Given the description of an element on the screen output the (x, y) to click on. 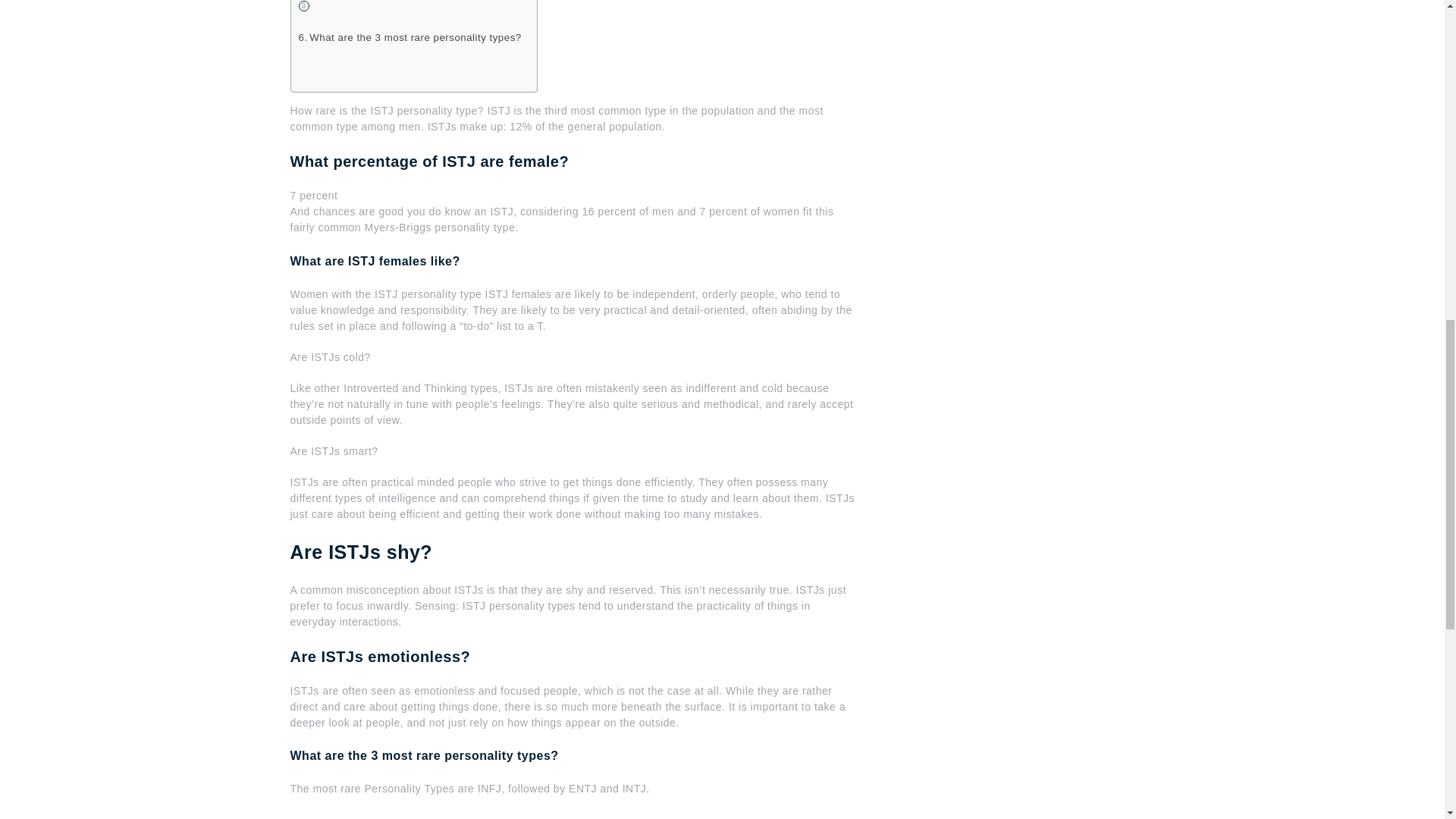
5 Things ISTJs Absolutely Hate (531, 815)
What are the 3 most rare personality types? (409, 37)
What are the 3 most rare personality types? (409, 37)
